Given the description of an element on the screen output the (x, y) to click on. 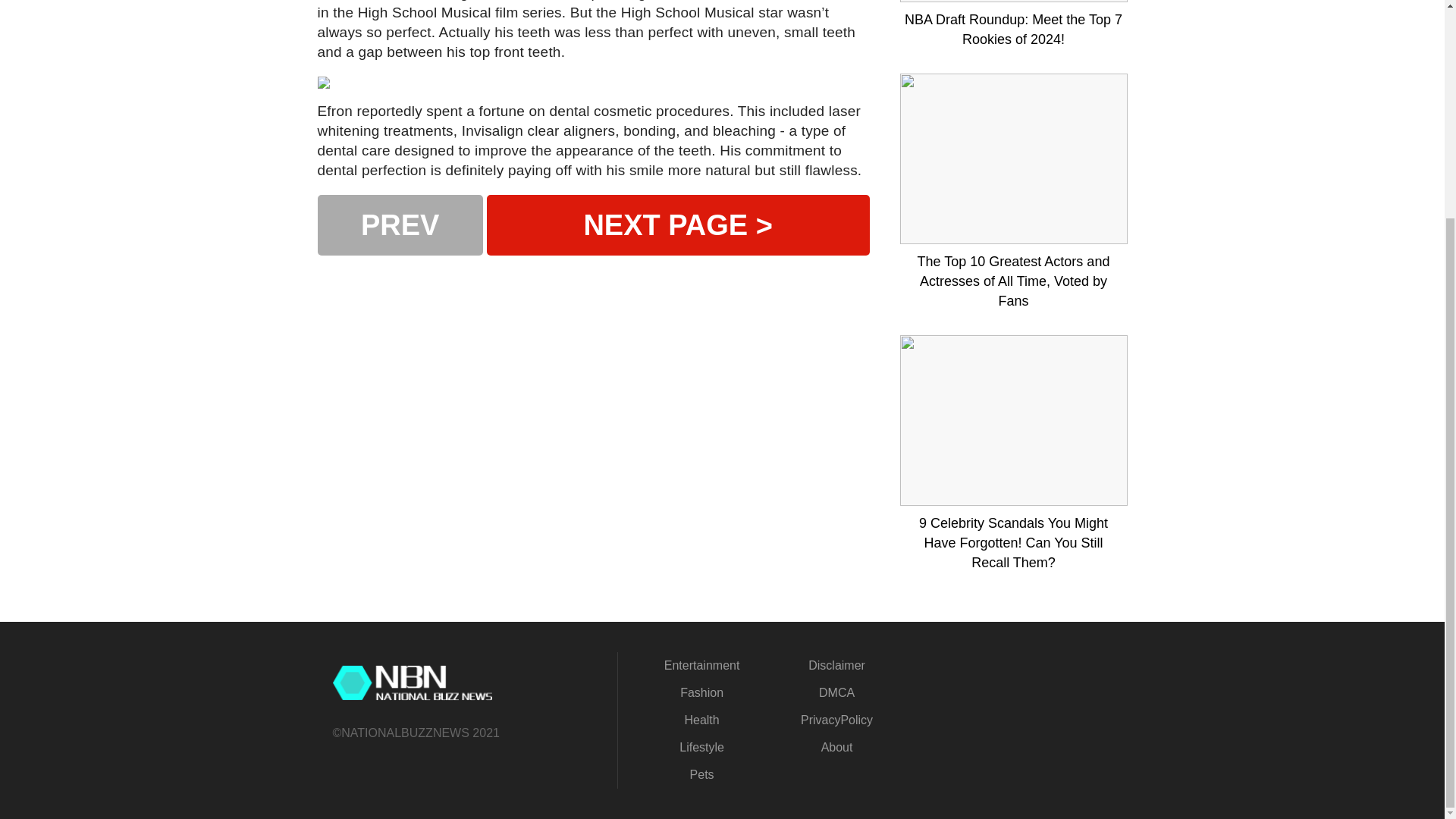
Fashion (701, 692)
Lifestyle (701, 747)
Pets (702, 774)
NBA Draft Roundup: Meet the Top 7 Rookies of 2024! (1012, 29)
Disclaimer (836, 665)
About (837, 747)
PrivacyPolicy (836, 719)
DMCA (836, 692)
Health (701, 719)
PREV (399, 224)
Entertainment (701, 665)
